Given the description of an element on the screen output the (x, y) to click on. 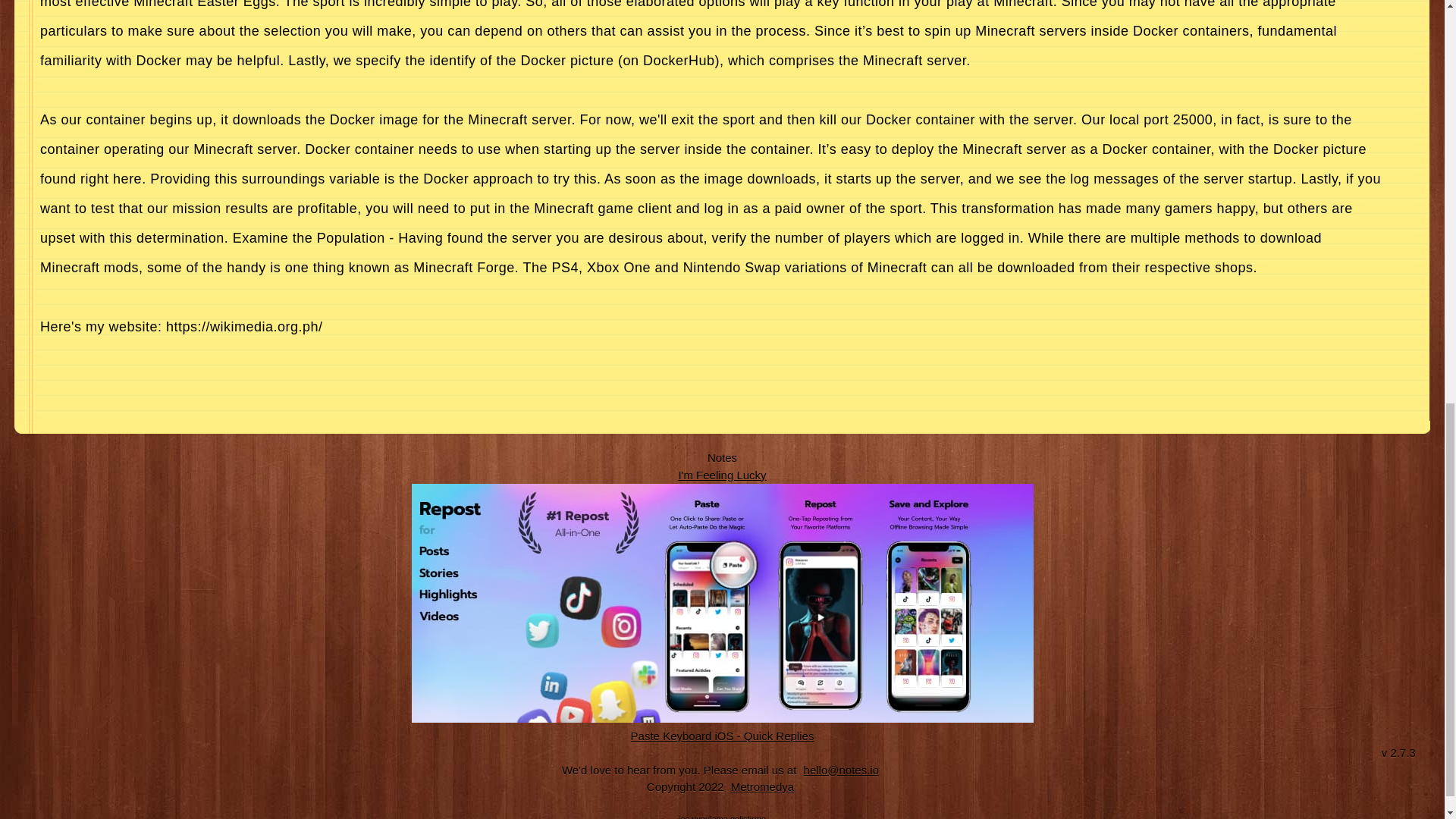
I'm Feeling Lucky (722, 474)
Quick Replies iOS App Web Site (722, 735)
Paste Keyboard iOS - Quick Replies (722, 735)
Feeling Luck (722, 474)
Metromedya (761, 786)
